Given the description of an element on the screen output the (x, y) to click on. 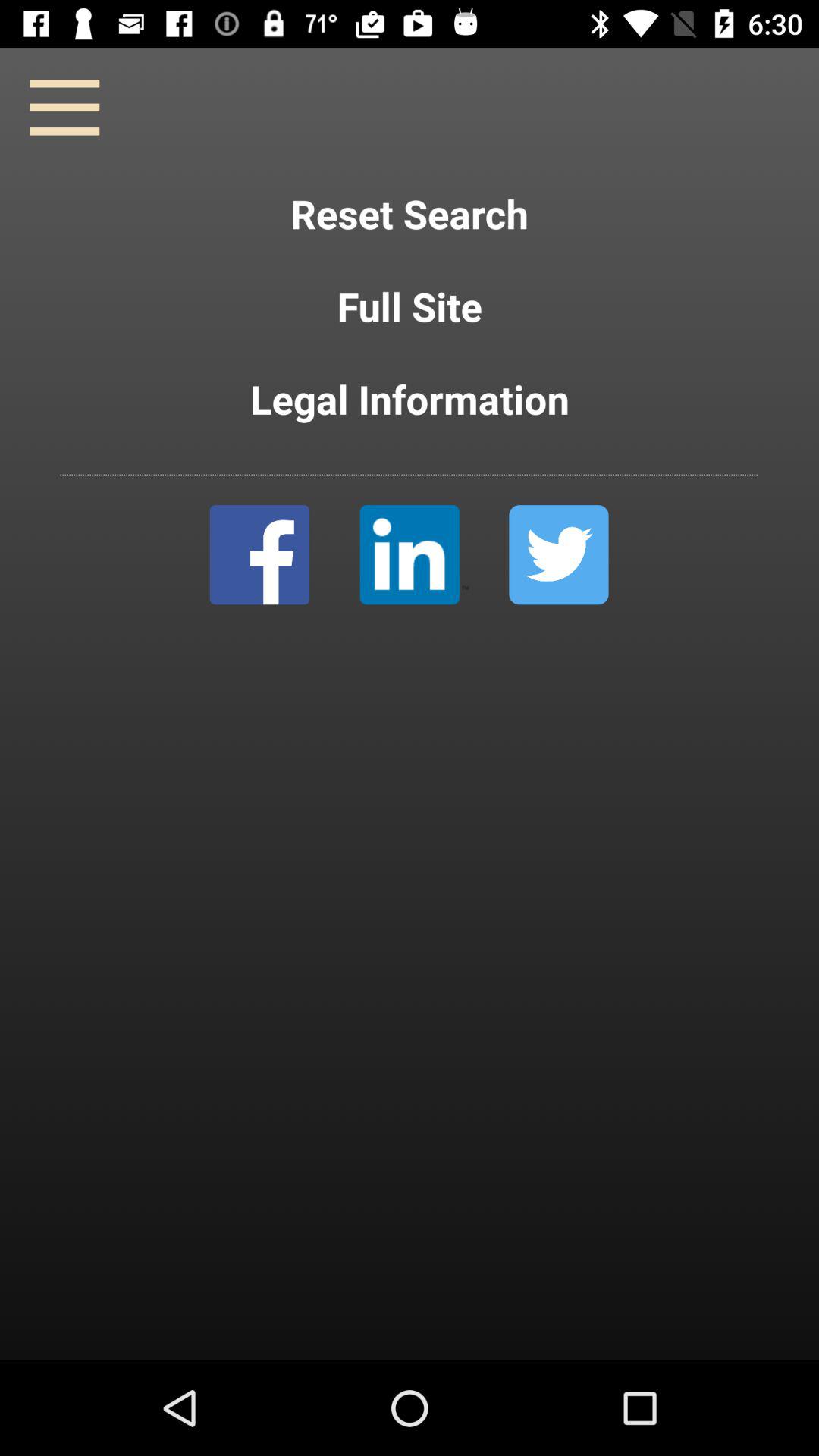
google search (414, 554)
